Given the description of an element on the screen output the (x, y) to click on. 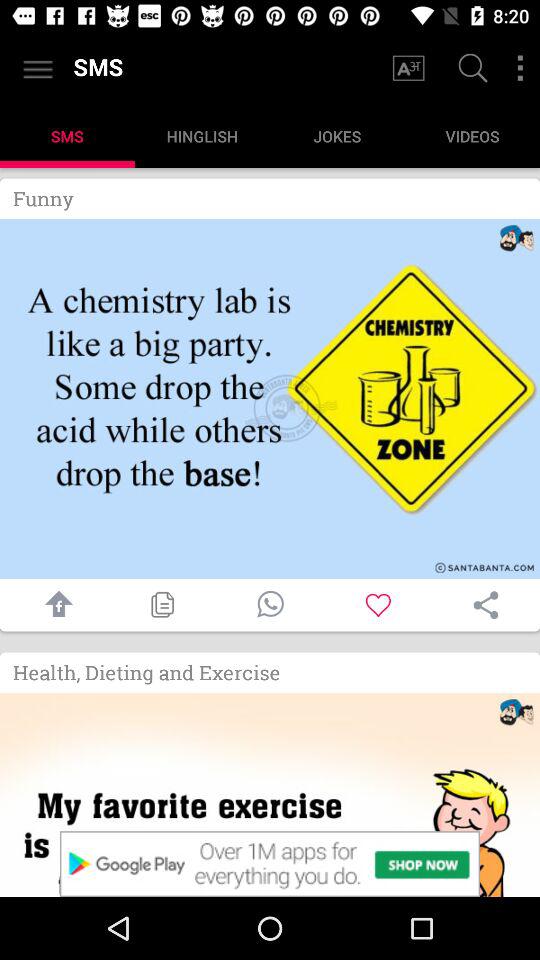
like button (378, 604)
